Given the description of an element on the screen output the (x, y) to click on. 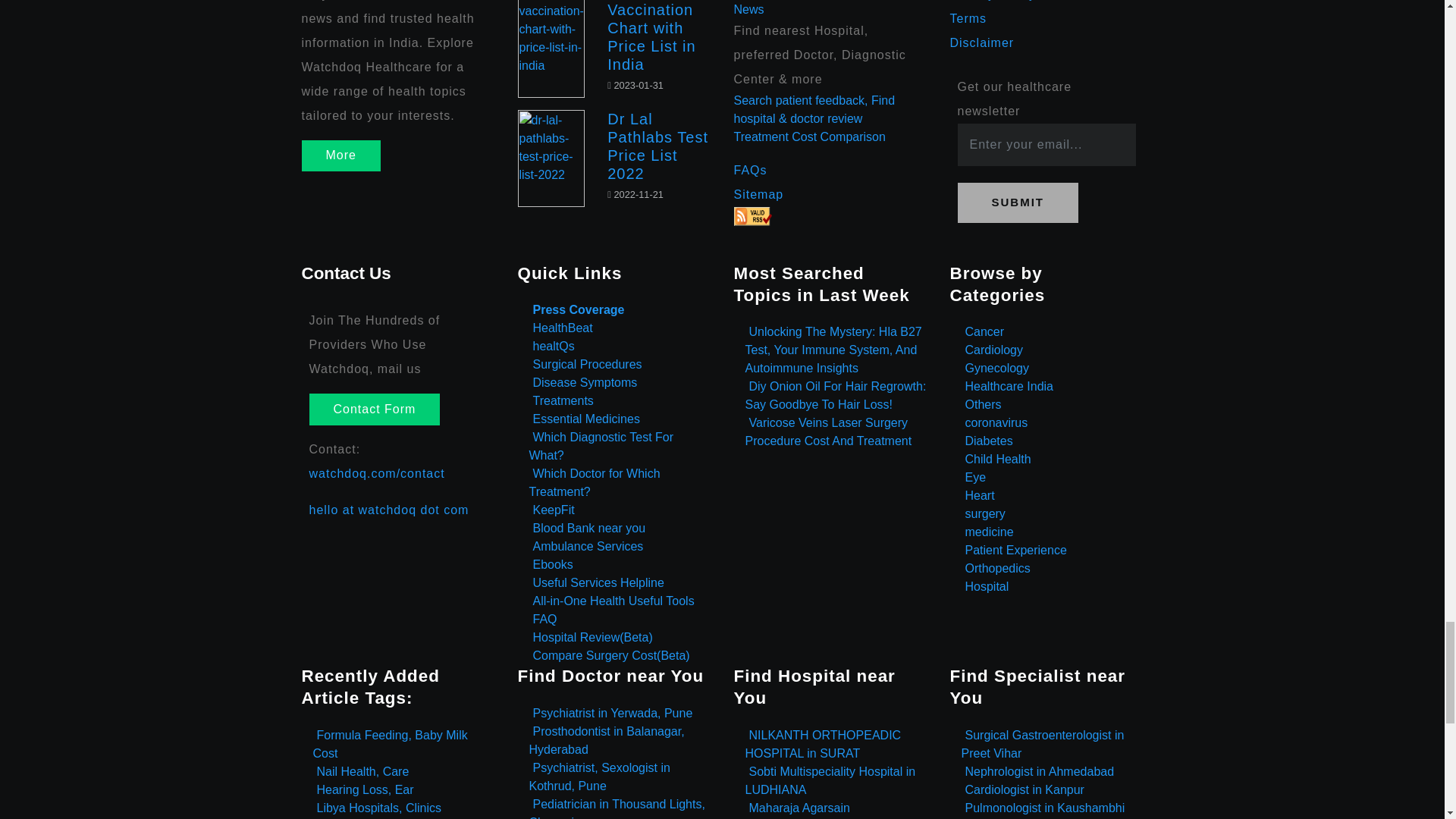
Valid RSS (752, 216)
